Given the description of an element on the screen output the (x, y) to click on. 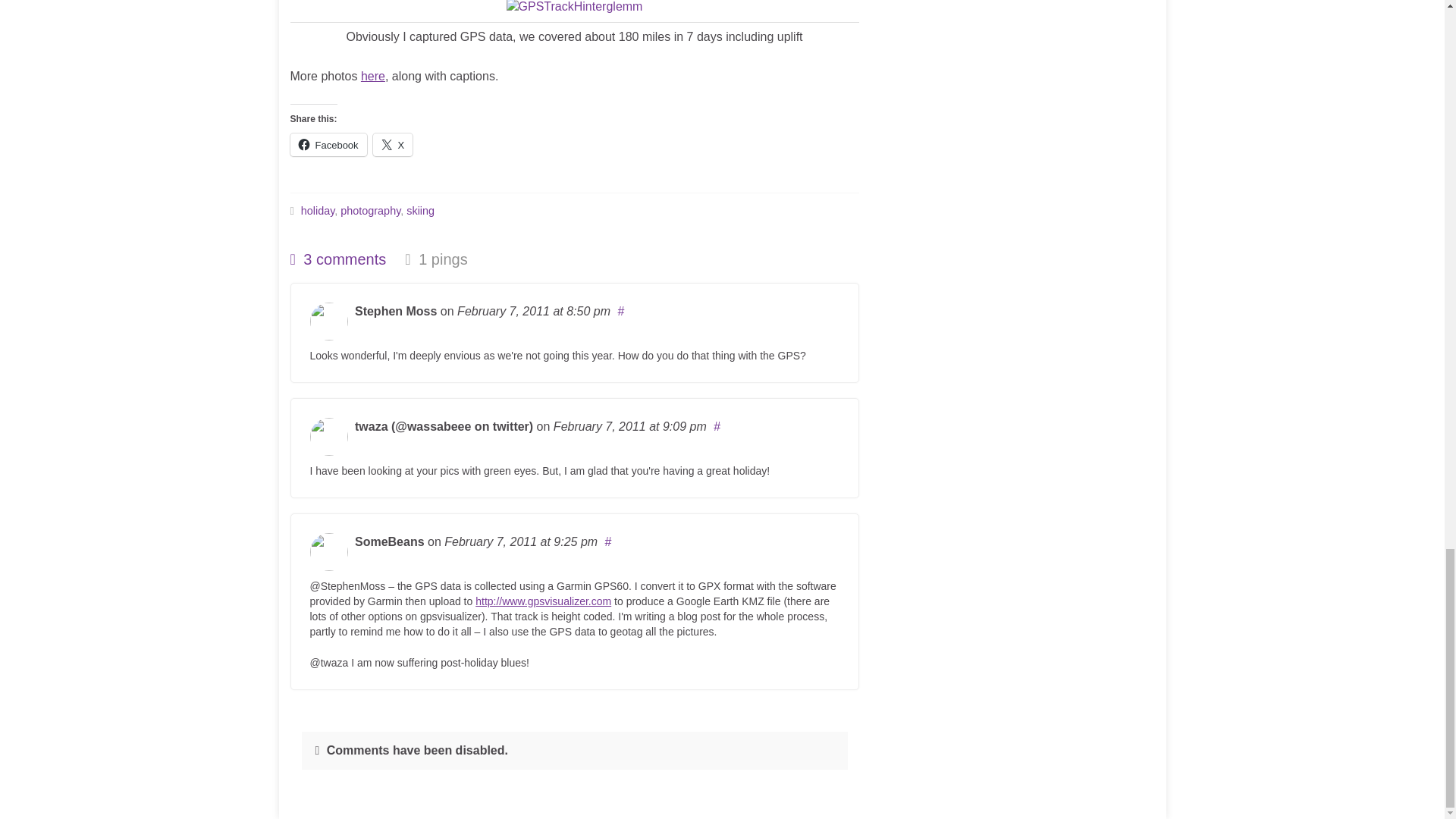
GPSTrackHinterglemm (574, 7)
photography (370, 210)
Facebook (327, 144)
skiing (419, 210)
holiday (317, 210)
X (392, 144)
1 pings (435, 258)
Click to share on Facebook (327, 144)
Click to share on X (392, 144)
3 comments (337, 258)
here (373, 75)
